Given the description of an element on the screen output the (x, y) to click on. 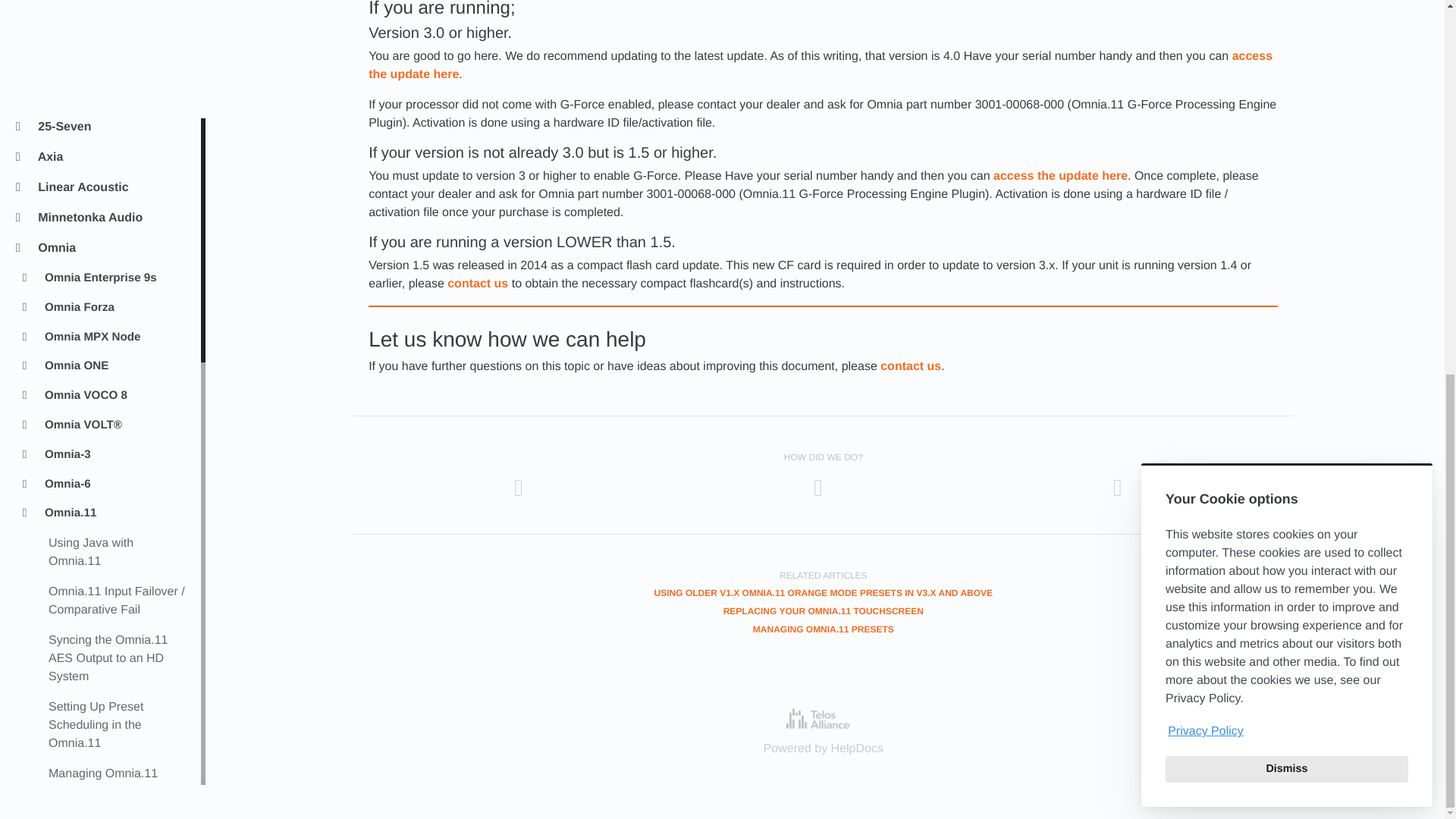
Powered by HelpDocs (822, 748)
Privacy Policy (1286, 43)
Dismiss (1286, 81)
Powered by HelpDocs (823, 719)
